Given the description of an element on the screen output the (x, y) to click on. 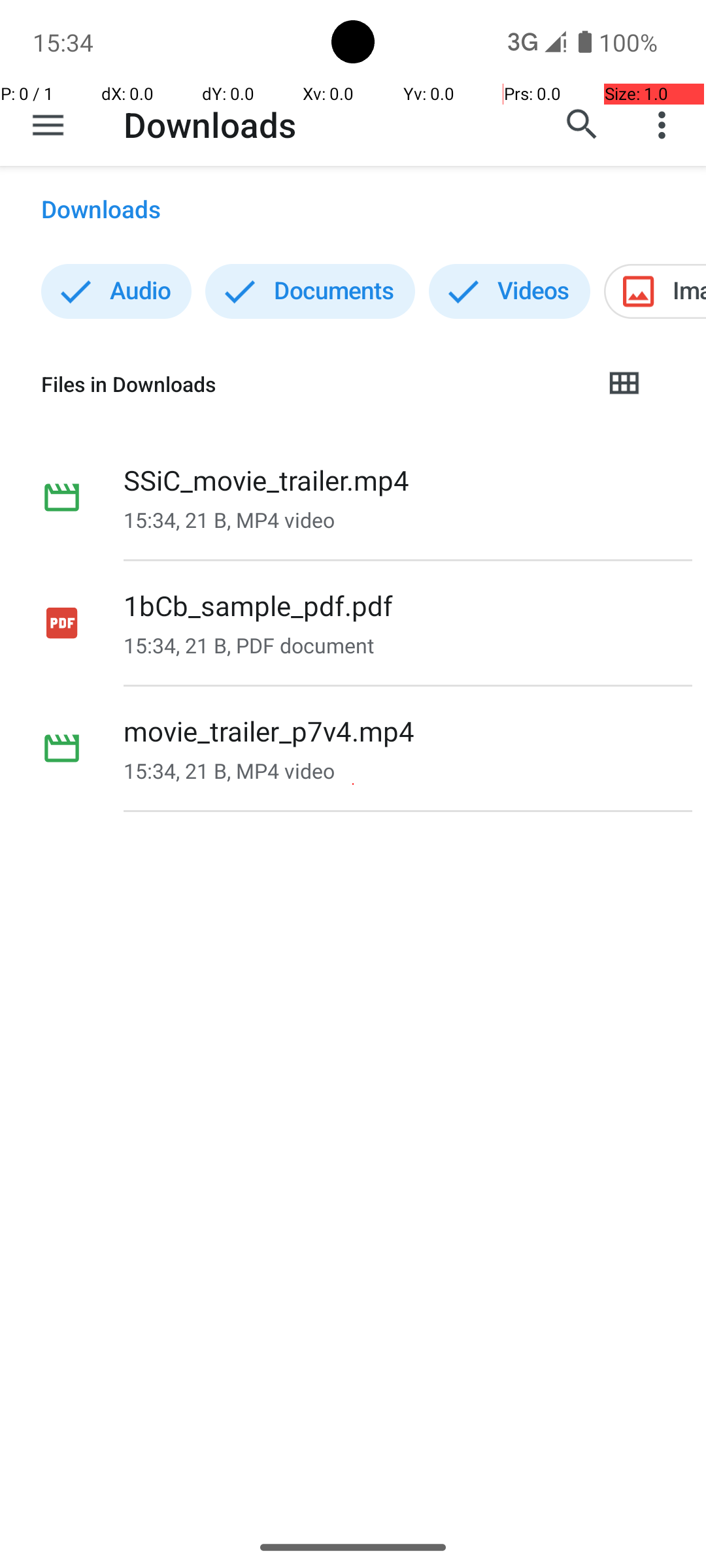
SSiC_movie_trailer.mp4 Element type: android.widget.TextView (266, 479)
15:34, 21 B, MP4 video Element type: android.widget.TextView (228, 519)
1bCb_sample_pdf.pdf Element type: android.widget.TextView (257, 604)
15:34, 21 B, PDF document Element type: android.widget.TextView (248, 645)
movie_trailer_p7v4.mp4 Element type: android.widget.TextView (268, 730)
